Given the description of an element on the screen output the (x, y) to click on. 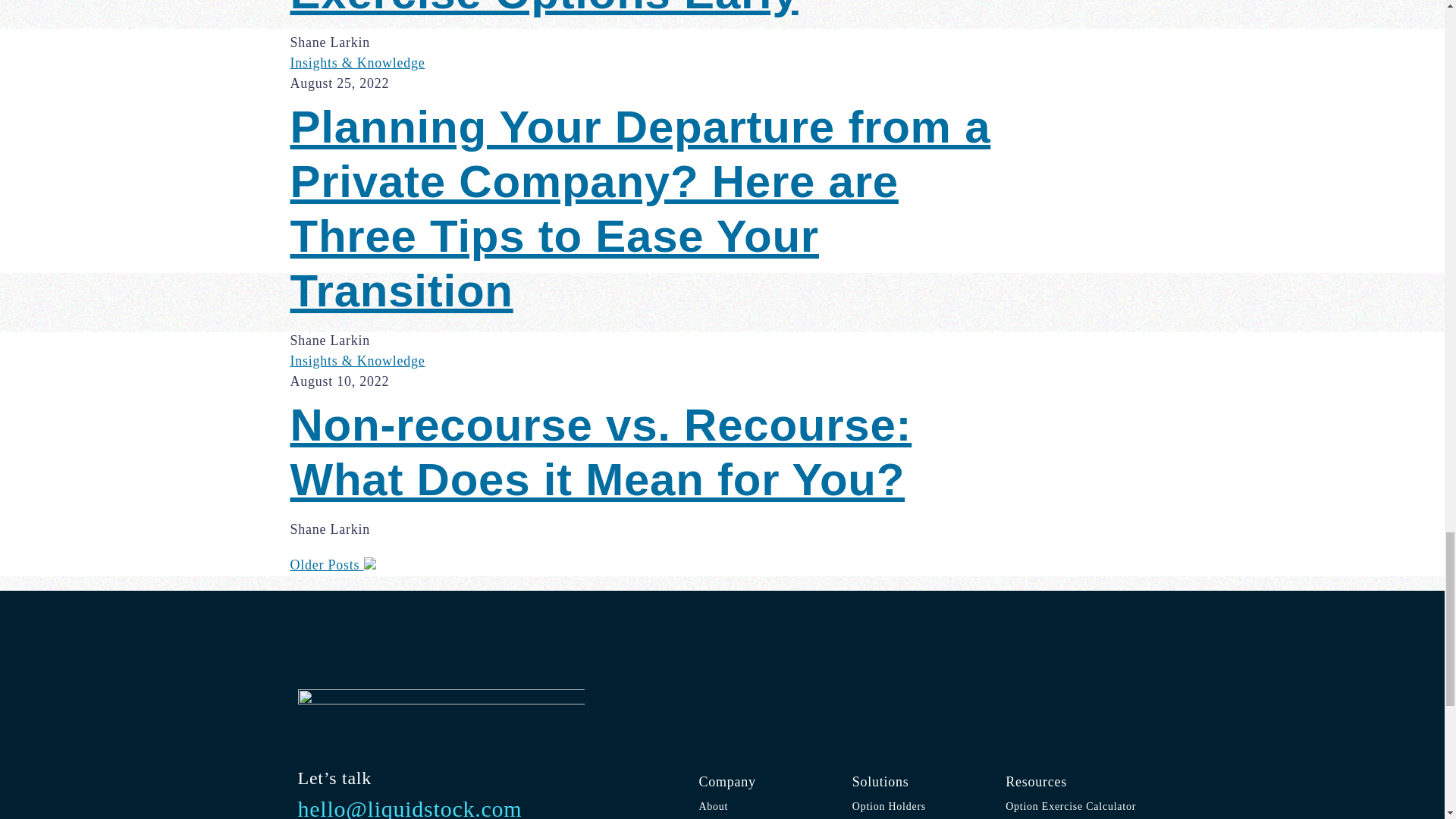
Four Less Obvious Reasons to Exercise Options Early (658, 10)
